Given the description of an element on the screen output the (x, y) to click on. 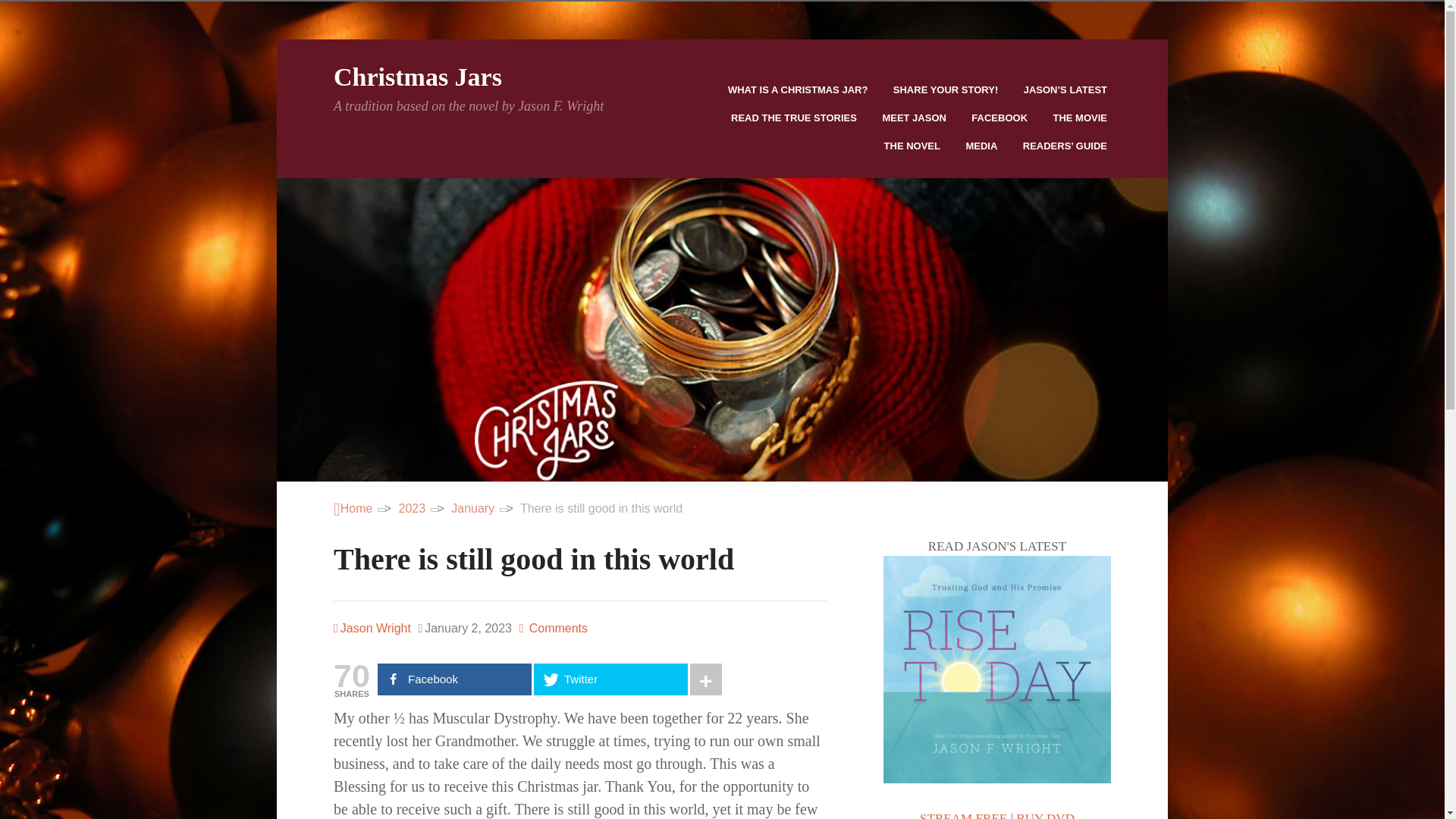
2023 (412, 508)
Monday, January 2, 2023, 10:33 am (464, 628)
Home (352, 508)
Twitter (610, 679)
STREAM FREE (963, 815)
THE NOVEL (913, 145)
Christmas Jars (352, 508)
Jason Wright (371, 627)
January (473, 508)
WHAT IS A CHRISTMAS JAR? (799, 90)
